Given the description of an element on the screen output the (x, y) to click on. 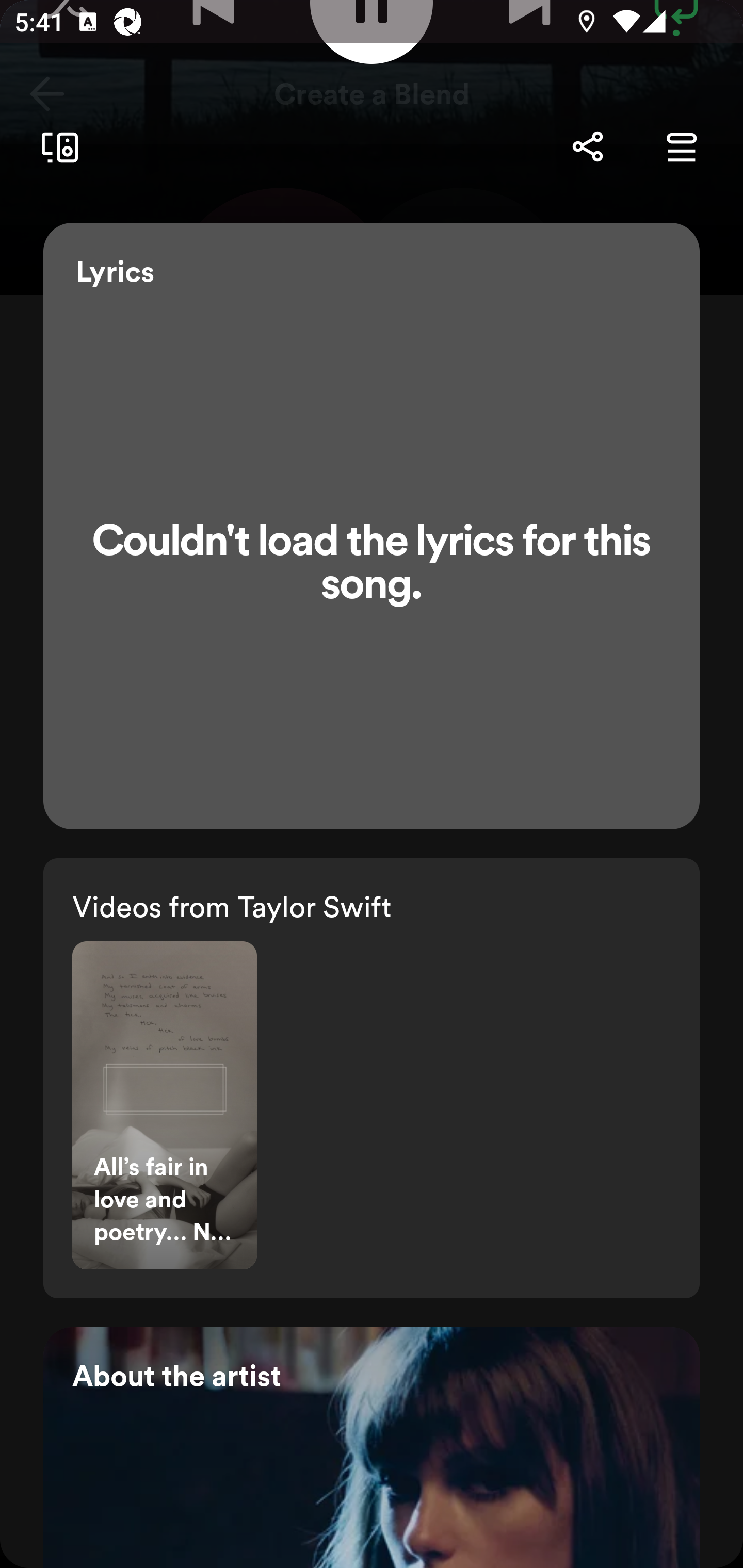
Share (587, 146)
Go to Queue (681, 146)
Connect to a device. Opens the devices menu (55, 147)
About the artist (371, 1447)
